Given the description of an element on the screen output the (x, y) to click on. 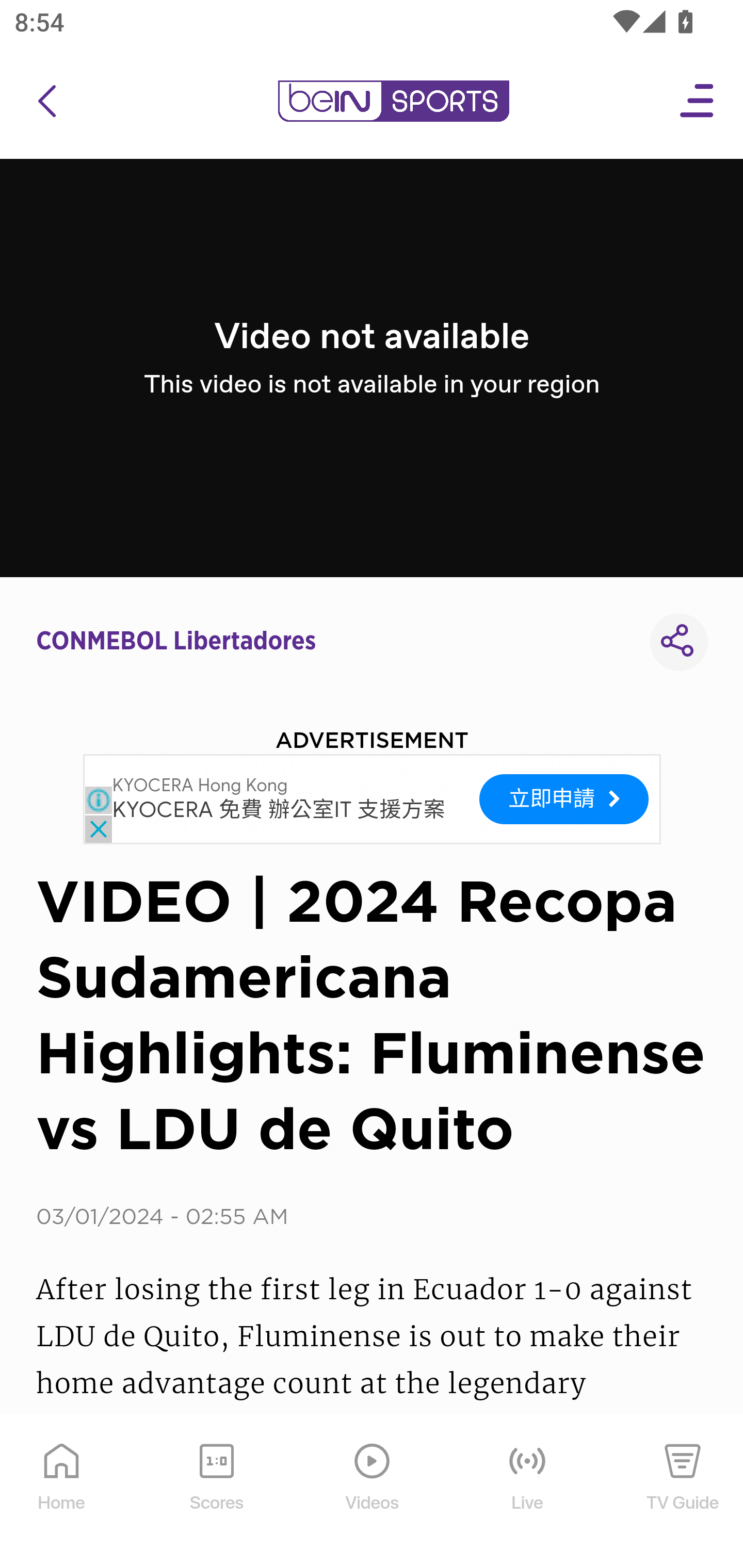
en-us?platform=mobile_android bein logo (392, 101)
icon back (46, 101)
Open Menu Icon (697, 101)
立即申請 (564, 798)
KYOCERA Hong Kong (200, 786)
KYOCERA 免費 辦公室IT 支援方案 (278, 810)
Home Home Icon Home (61, 1491)
Scores Scores Icon Scores (216, 1491)
Videos Videos Icon Videos (372, 1491)
TV Guide TV Guide Icon TV Guide (682, 1491)
